Given the description of an element on the screen output the (x, y) to click on. 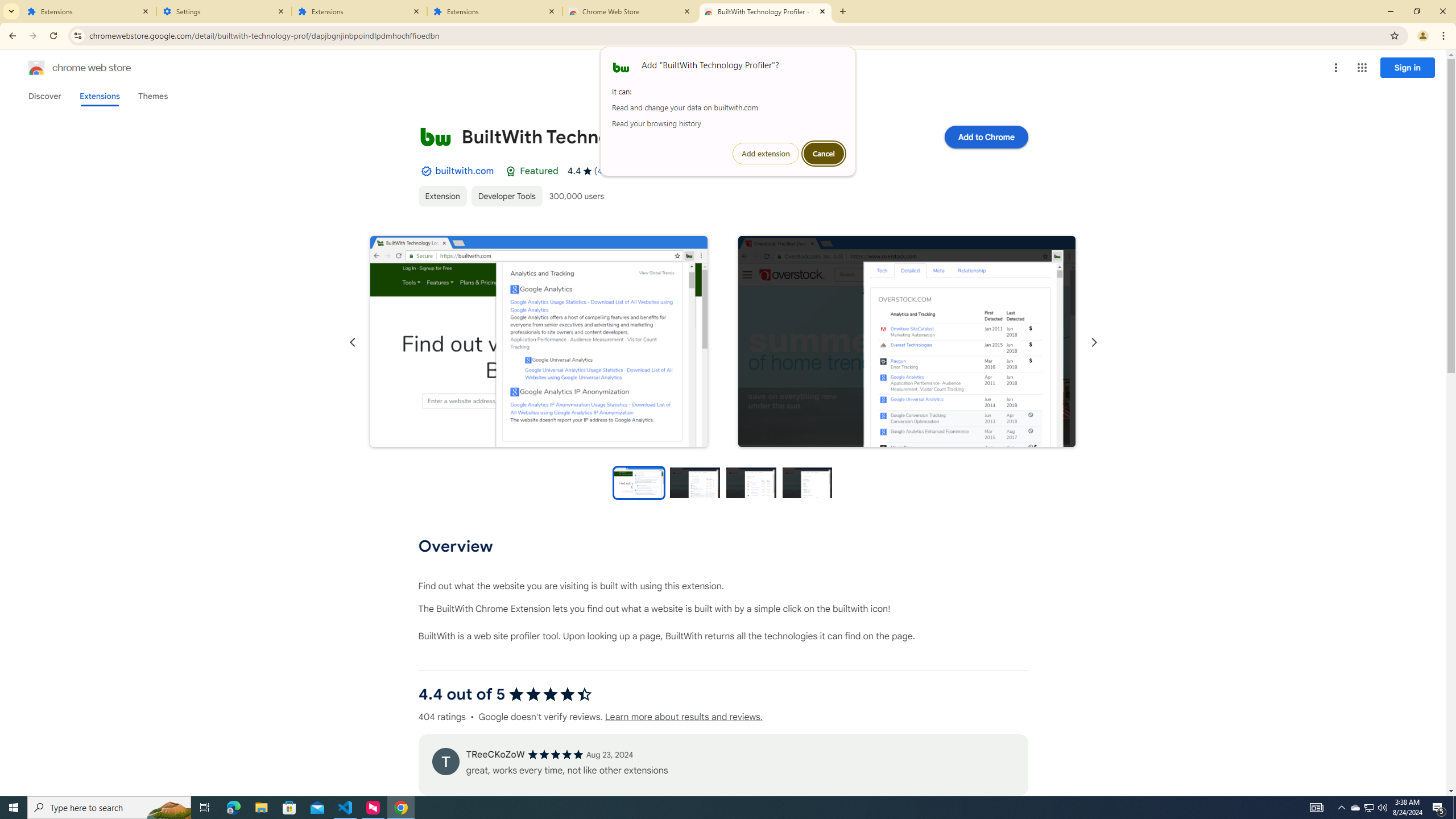
Q2790: 100% (1382, 807)
Discover (43, 95)
Search highlights icon opens search home window (167, 807)
Item media 2 screenshot (906, 341)
Action Center, 5 new notifications (1439, 807)
Extension (442, 195)
Previous slide (352, 342)
Add extension (765, 153)
Notification Chevron (1341, 807)
Cancel (823, 153)
